Given the description of an element on the screen output the (x, y) to click on. 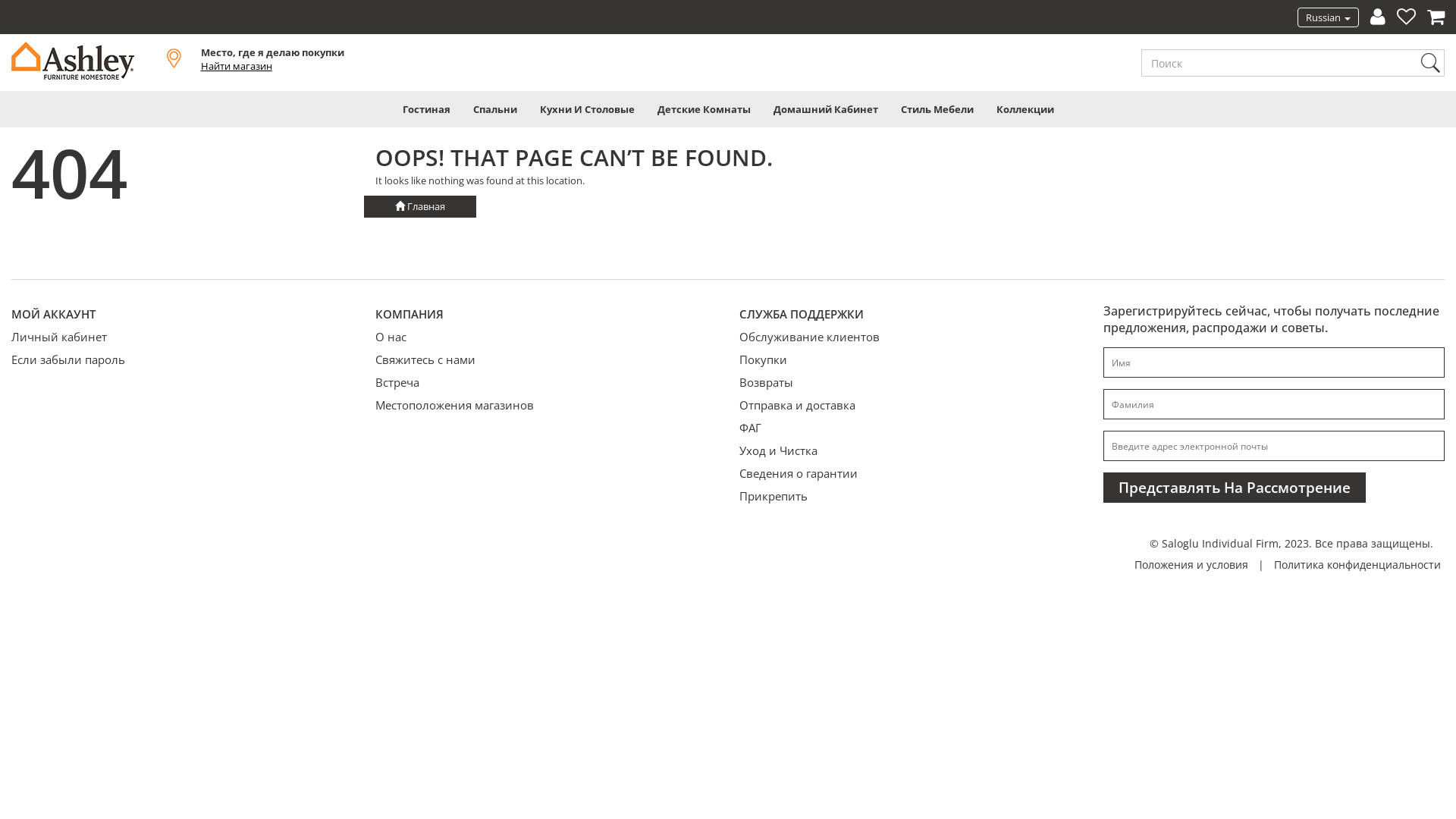
Search Element type: text (1430, 62)
Click Here Element type: text (13, 21)
Russian Element type: text (1328, 17)
